Given the description of an element on the screen output the (x, y) to click on. 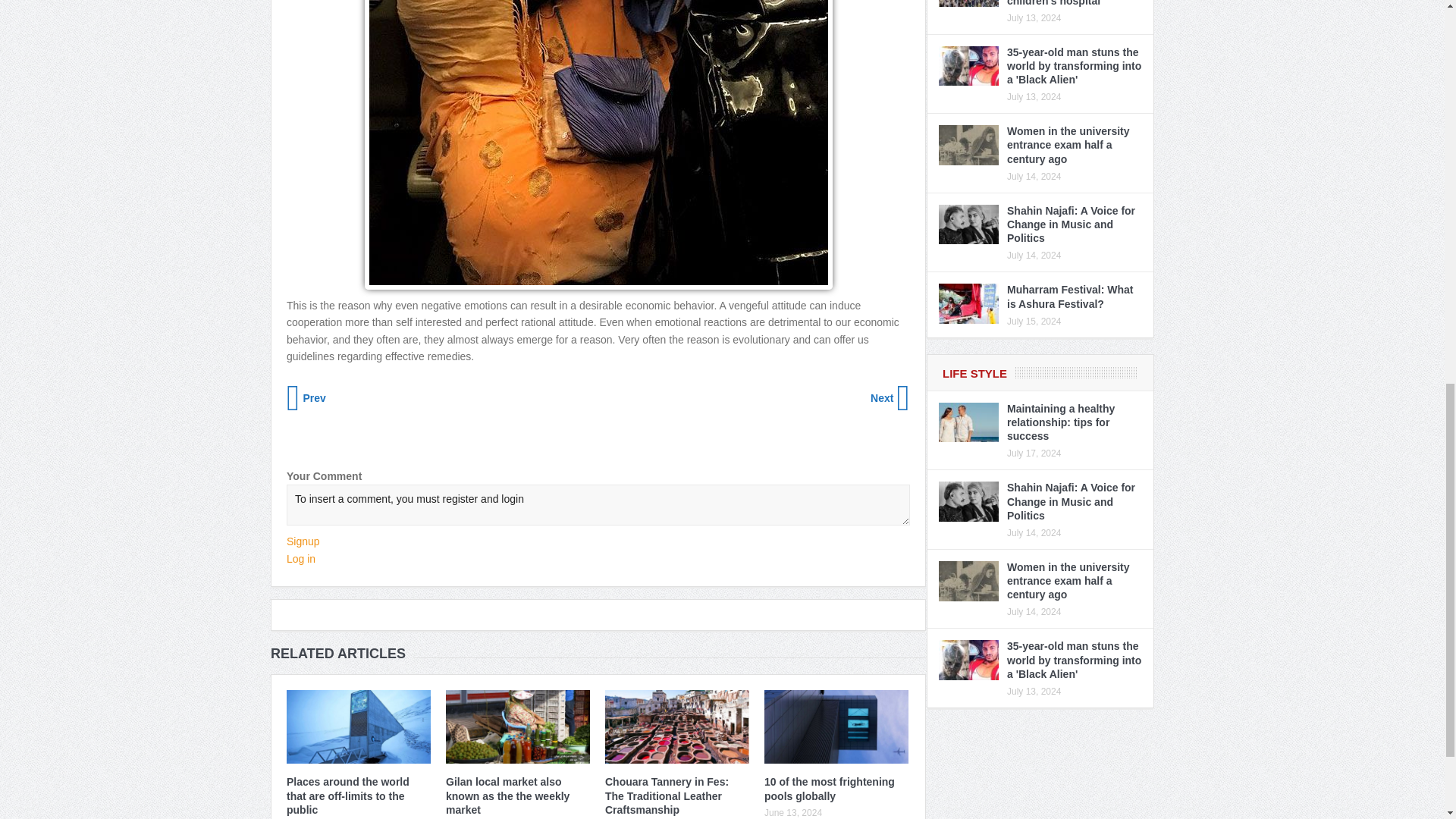
Prev (307, 398)
10 of the most frightening pools globally (829, 788)
Signup (303, 541)
Log in (300, 558)
Next (888, 398)
Gilan local market also known as the the weekly market (507, 794)
Places around the world that are off-limits to the public (347, 794)
